Given the description of an element on the screen output the (x, y) to click on. 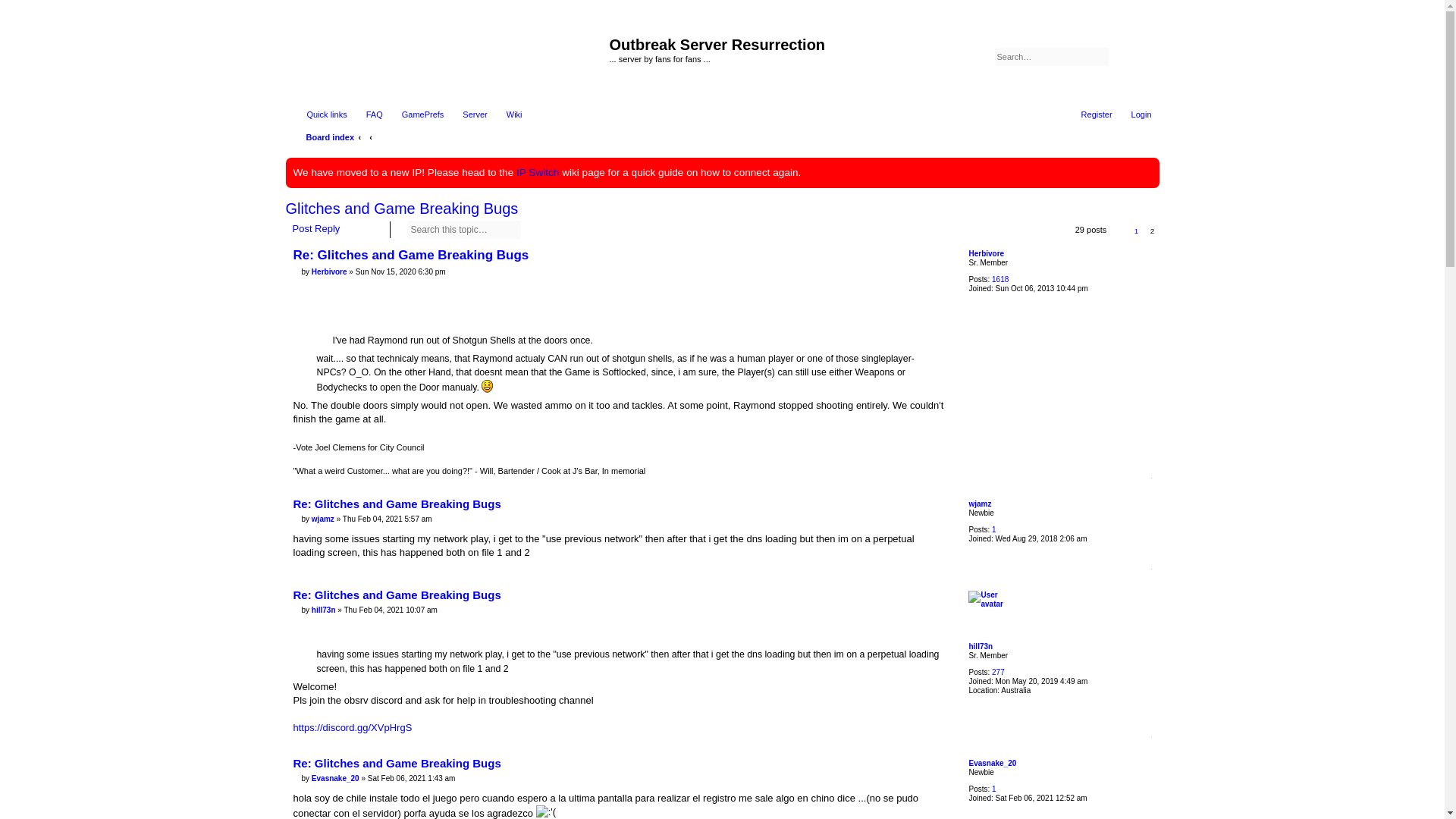
Server (467, 114)
Wiki (507, 114)
IP Switch (537, 173)
Advanced search (1141, 56)
Search for keywords (1051, 56)
Search (532, 229)
1618 (1000, 279)
Top (1146, 480)
Search (532, 229)
Herbivore (986, 253)
Advanced search (1141, 56)
Server (467, 114)
Advanced search (553, 229)
Re: Glitches and Game Breaking Bugs (396, 503)
FAQ (367, 114)
